Given the description of an element on the screen output the (x, y) to click on. 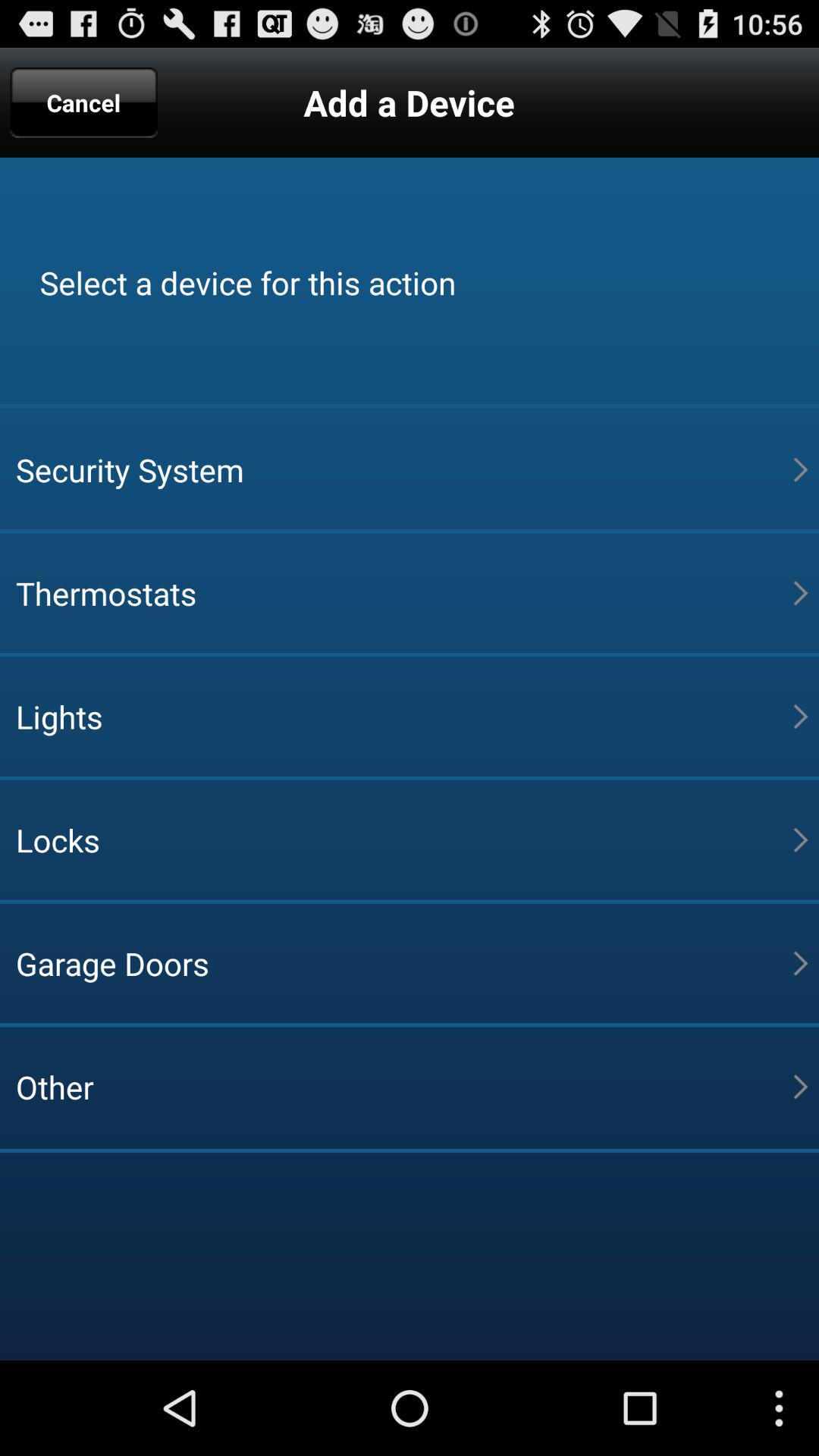
flip to the thermostats app (403, 592)
